Given the description of an element on the screen output the (x, y) to click on. 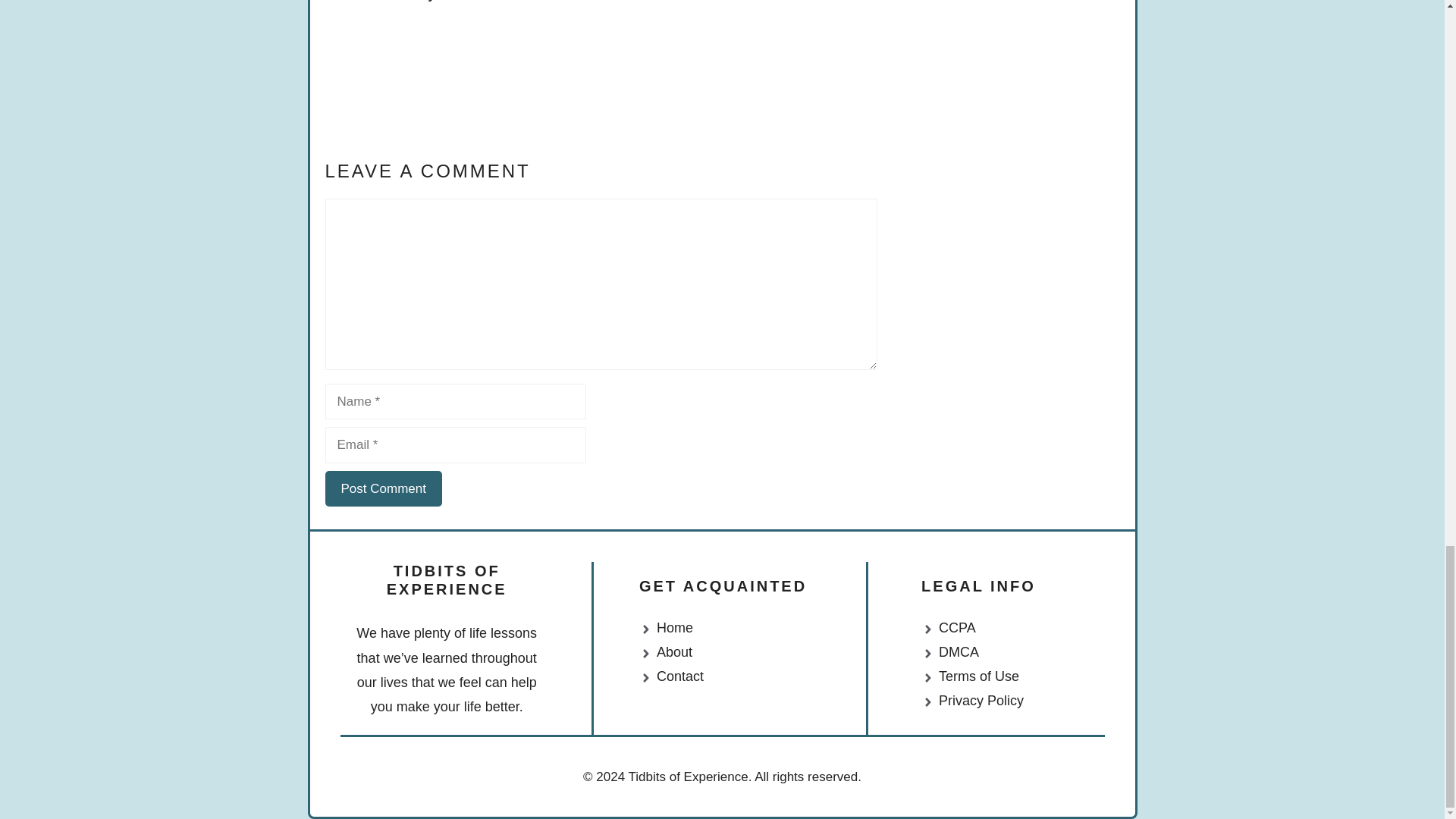
Post Comment (382, 488)
